Given the description of an element on the screen output the (x, y) to click on. 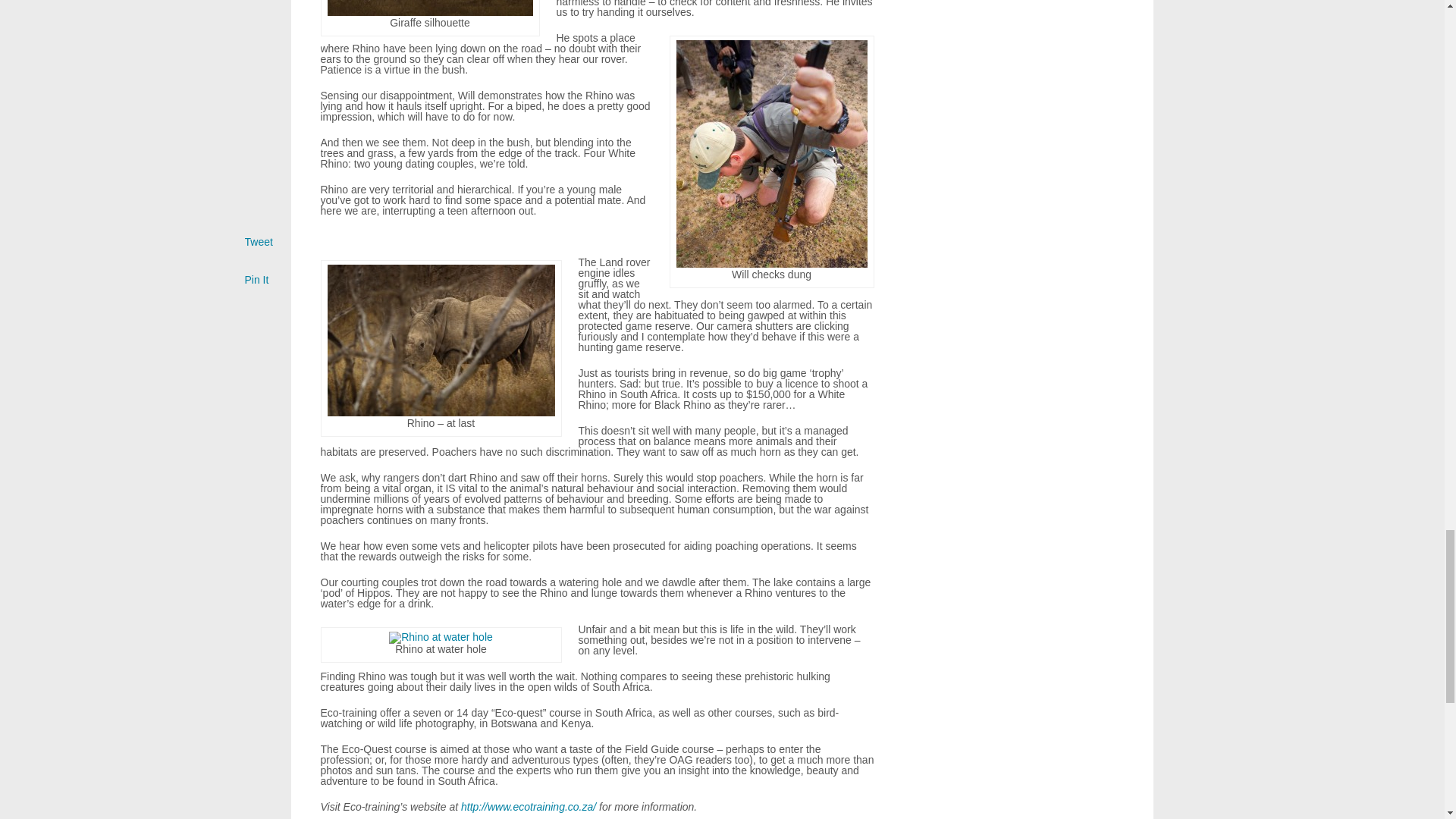
Eco-training (528, 806)
